Given the description of an element on the screen output the (x, y) to click on. 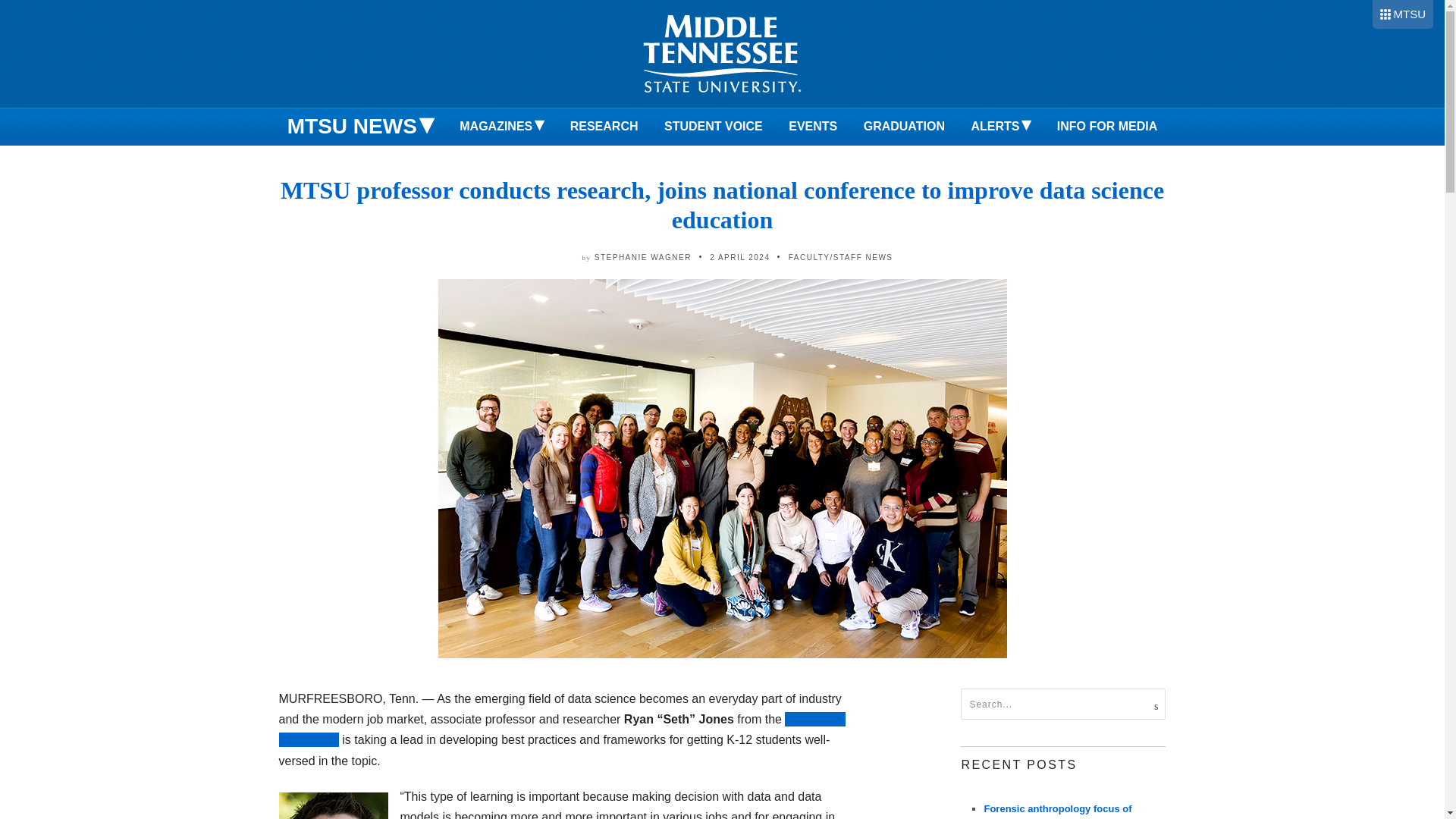
April 2, 2024 7:53 (740, 257)
Posts by Stephanie Wagner (642, 257)
